Given the description of an element on the screen output the (x, y) to click on. 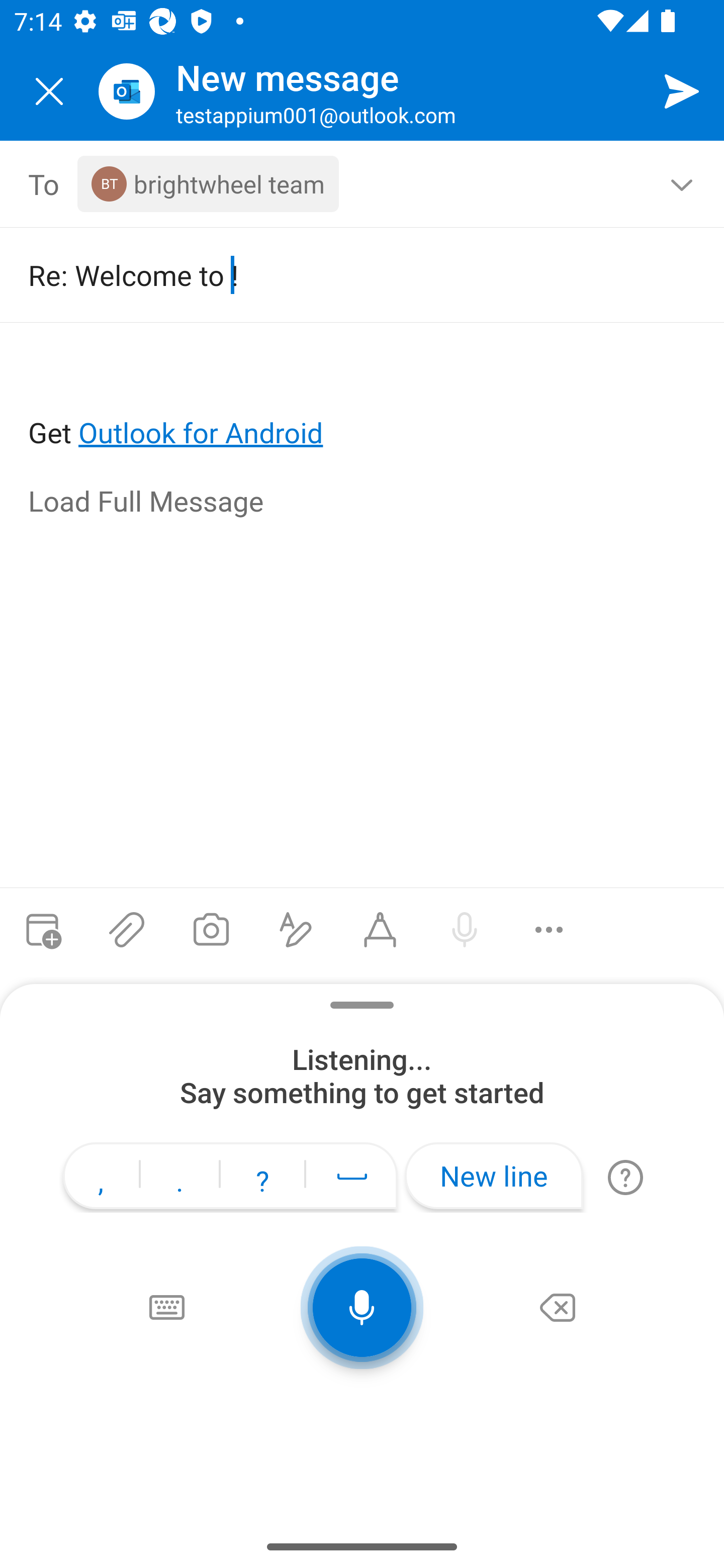
Close (49, 91)
Send (681, 90)
Re: Welcome to ! (347, 274)


Get Outlook for Android (363, 400)
Load Full Message (363, 502)
Attach meeting (42, 929)
Attach files (126, 929)
Take a photo (210, 929)
Show formatting options (295, 929)
Start Ink compose (380, 929)
More options (548, 929)
  Insert Space button (351, 1175)
New line new line button (493, 1175)
Help (624, 1177)
, Comma button (100, 1177)
. Period button (179, 1177)
? Question mark button (262, 1177)
Microphone (361, 1307)
switch to alphanumeric keyboard (165, 1307)
backspace (557, 1307)
